Given the description of an element on the screen output the (x, y) to click on. 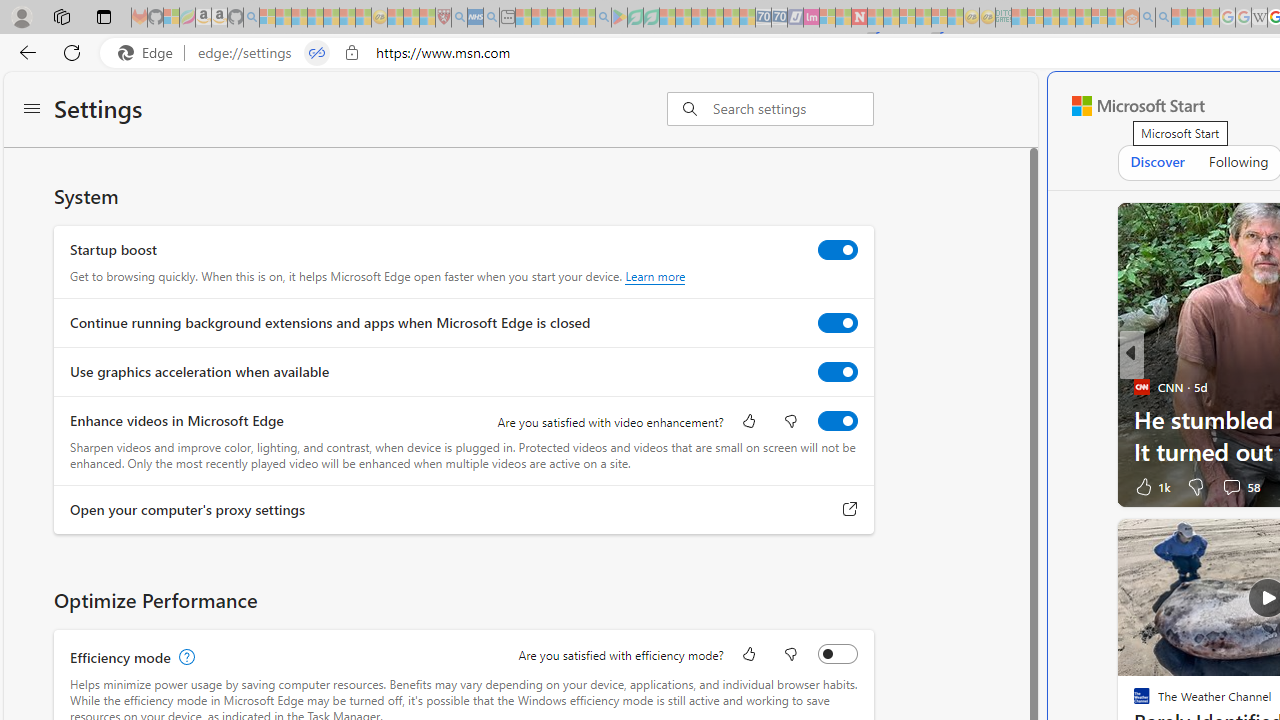
google - Search - Sleeping (603, 17)
Terms of Use Agreement - Sleeping (635, 17)
Microsoft account | Privacy - Sleeping (1035, 17)
Skip to footer (1126, 105)
Microsoft Start - Sleeping (1179, 17)
Cheap Car Rentals - Save70.com - Sleeping (763, 17)
Ad Choice (1099, 486)
I Lost 50 Pounds While Eating These Foods Every Day (814, 450)
